Given the description of an element on the screen output the (x, y) to click on. 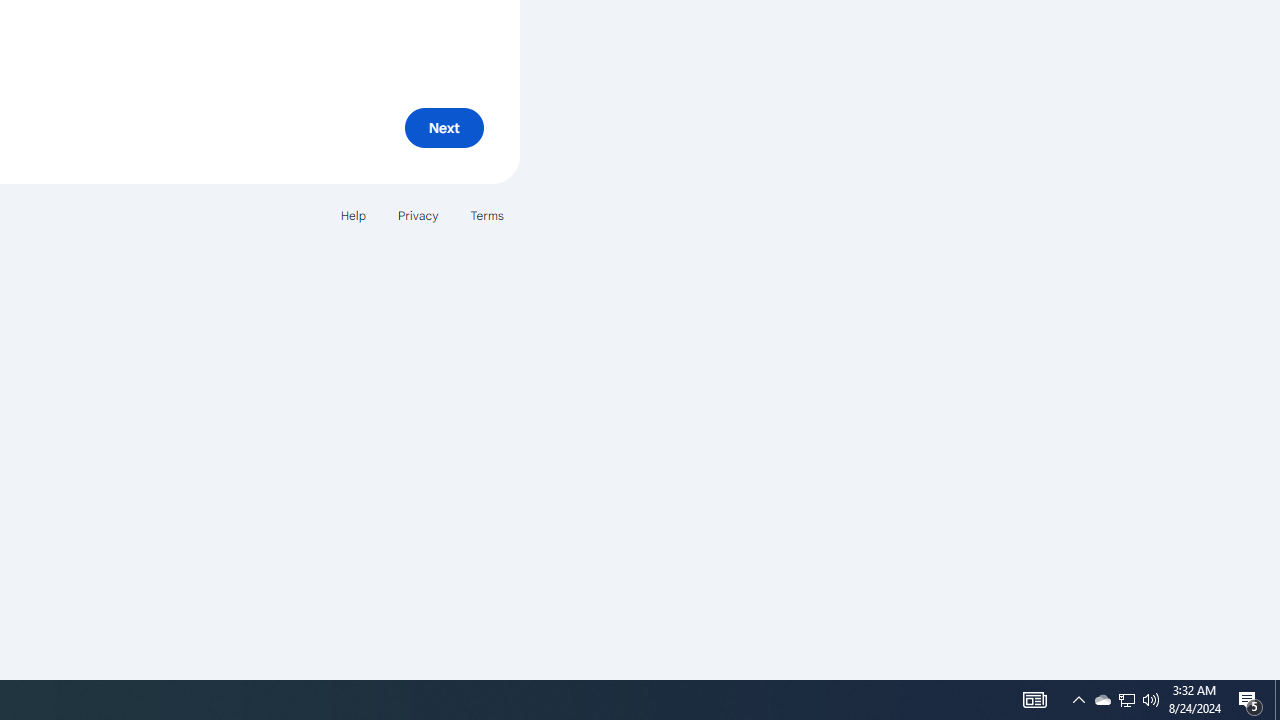
Privacy (417, 214)
Help (352, 214)
Next (443, 127)
